Given the description of an element on the screen output the (x, y) to click on. 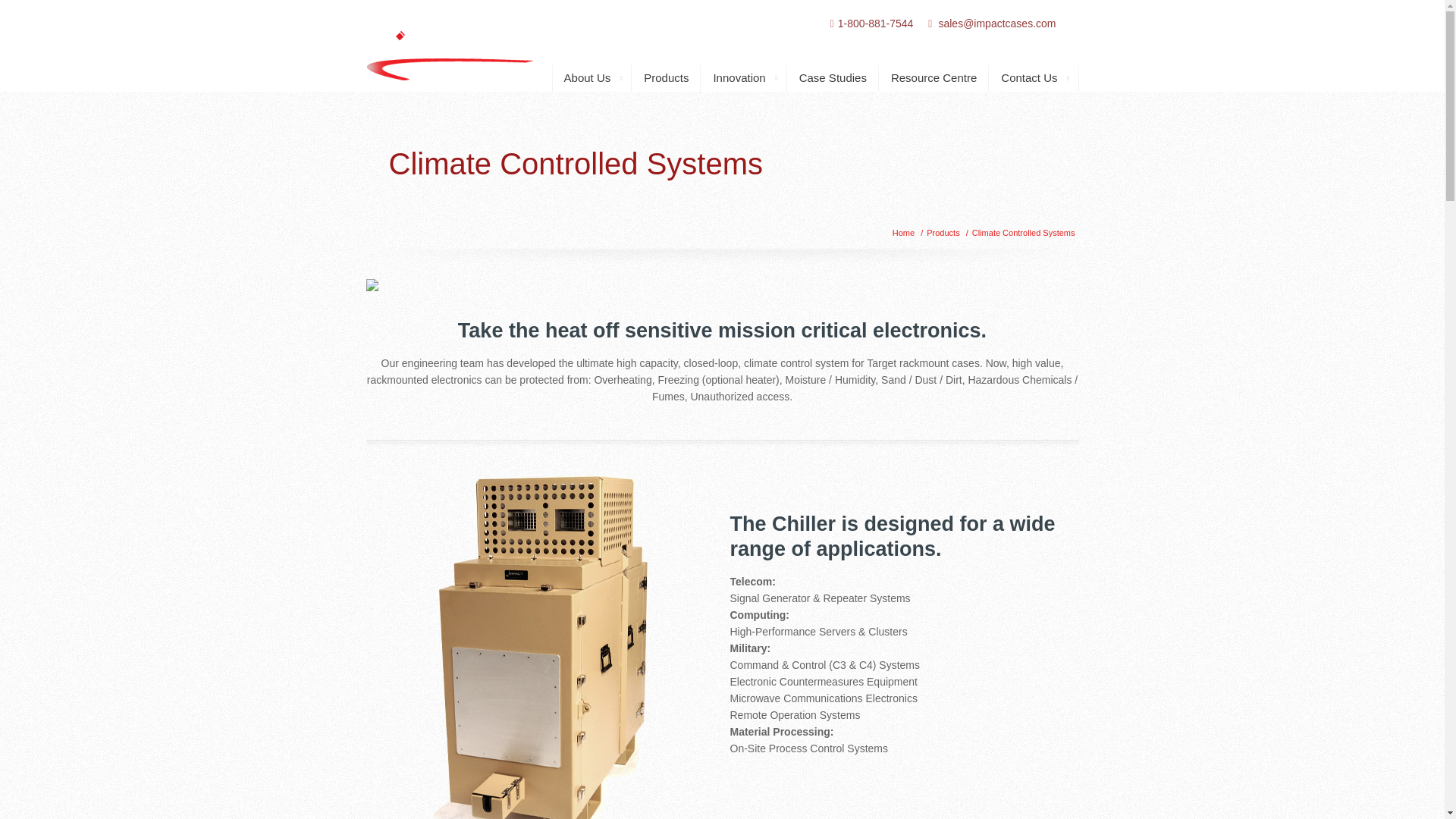
About Us (591, 77)
Resource Centre (933, 77)
Contact Us (1033, 77)
Case Studies (833, 77)
Products (665, 77)
Home (903, 232)
Innovation (743, 77)
Products (942, 232)
Impact Cases (449, 43)
Climate Controlled Systems (1023, 232)
